Given the description of an element on the screen output the (x, y) to click on. 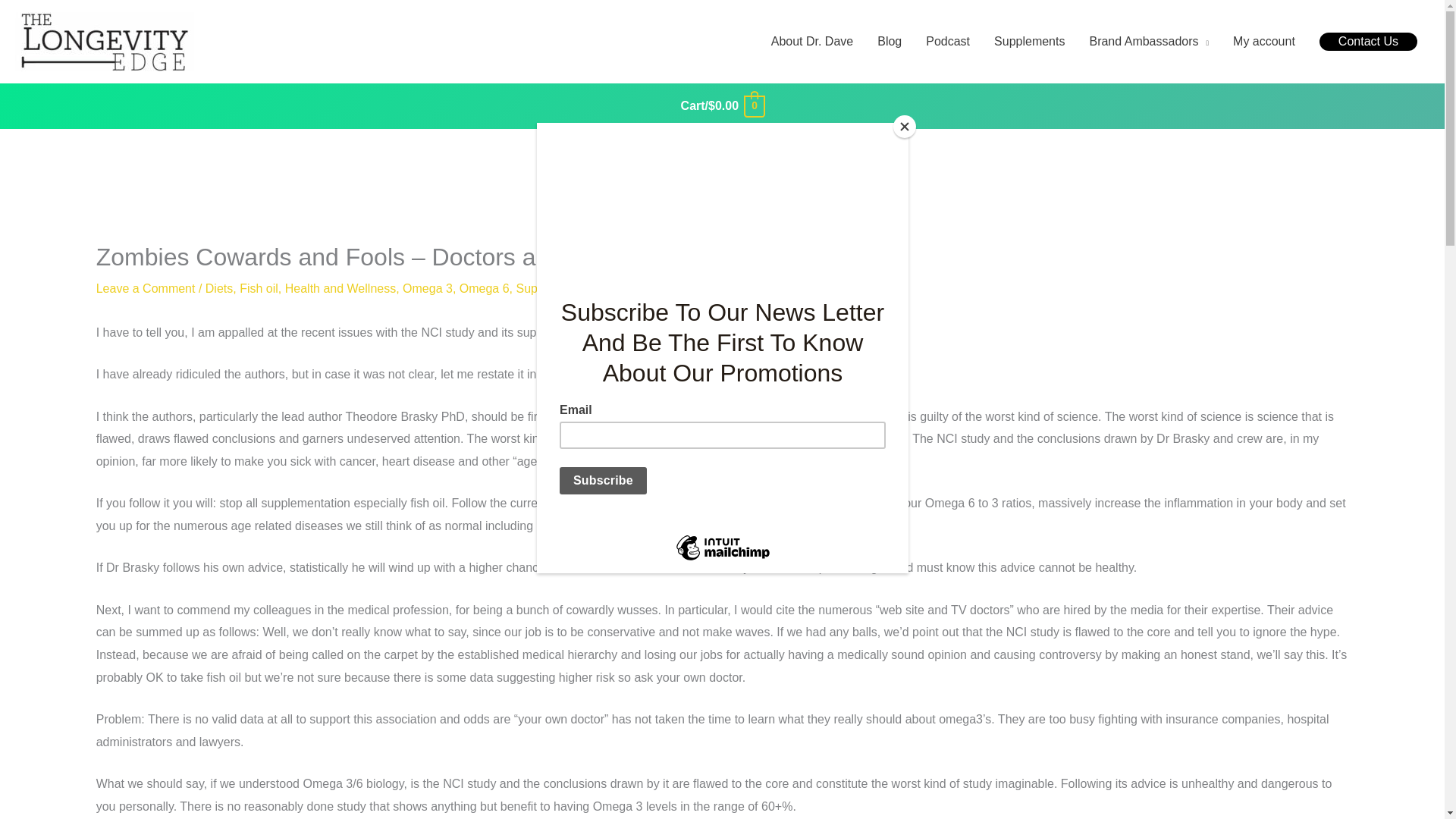
Fish oil (259, 287)
Health and Wellness (340, 287)
Leave a Comment (145, 287)
Podcast (947, 41)
Supplements (550, 287)
Dr. Dave (637, 287)
My account (1264, 41)
About Dr. Dave (812, 41)
Brand Ambassadors (1149, 41)
Contact Us (1367, 41)
Supplements (1029, 41)
Omega 6 (484, 287)
fish oil and advanced prostate cancer (708, 332)
View all posts by Dr. Dave (637, 287)
